Given the description of an element on the screen output the (x, y) to click on. 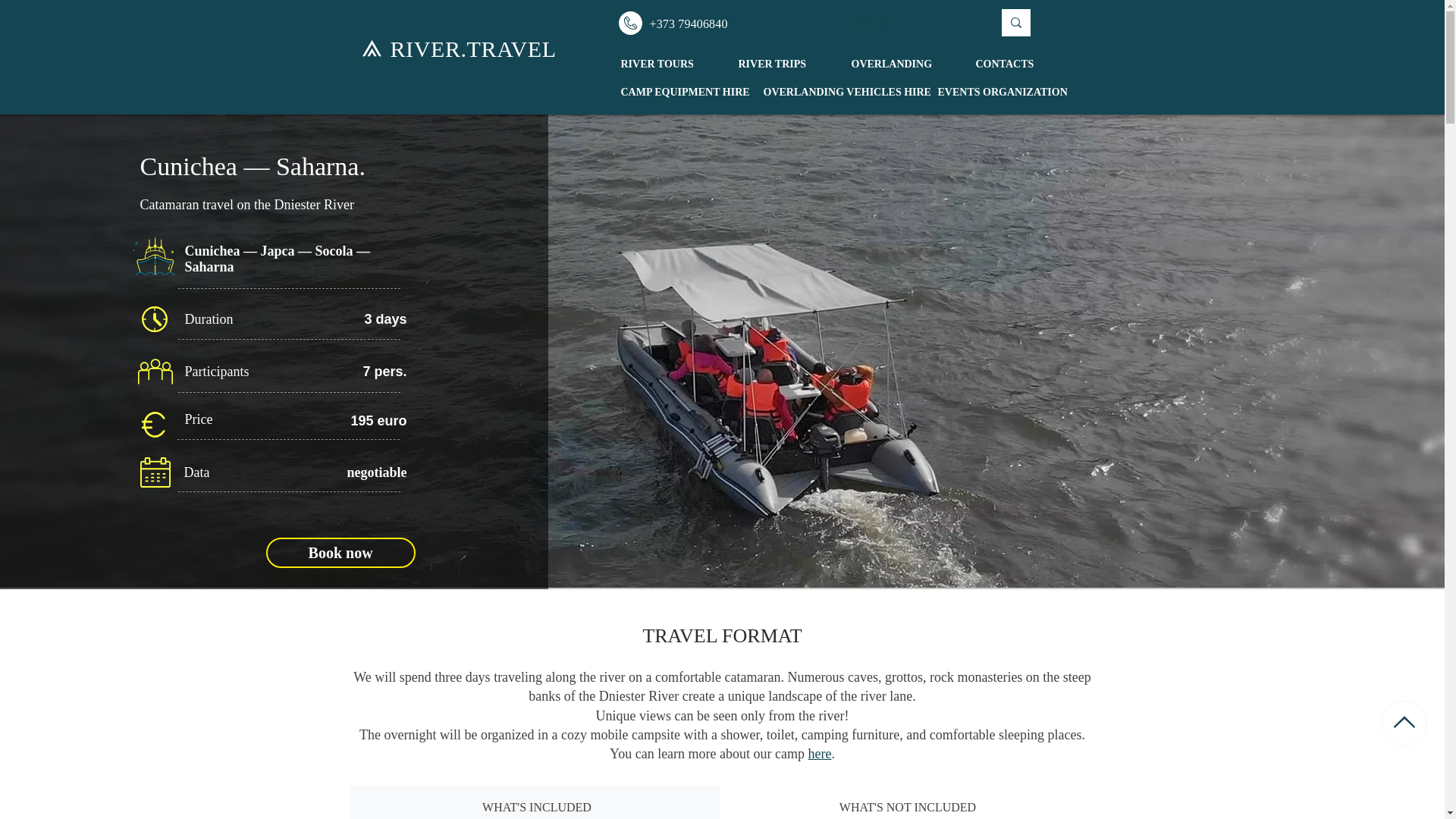
RIVER TOURS (668, 63)
OVERLANDING (901, 63)
here (819, 753)
Book now (340, 552)
CAMP EQUIPMENT HIRE (681, 92)
RIVER.TRAVEL (473, 48)
CONTACTS (1017, 63)
RIVER TRIPS (783, 63)
OVERLANDING VEHICLES HIRE (839, 92)
EVENTS ORGANIZATION (998, 92)
